Given the description of an element on the screen output the (x, y) to click on. 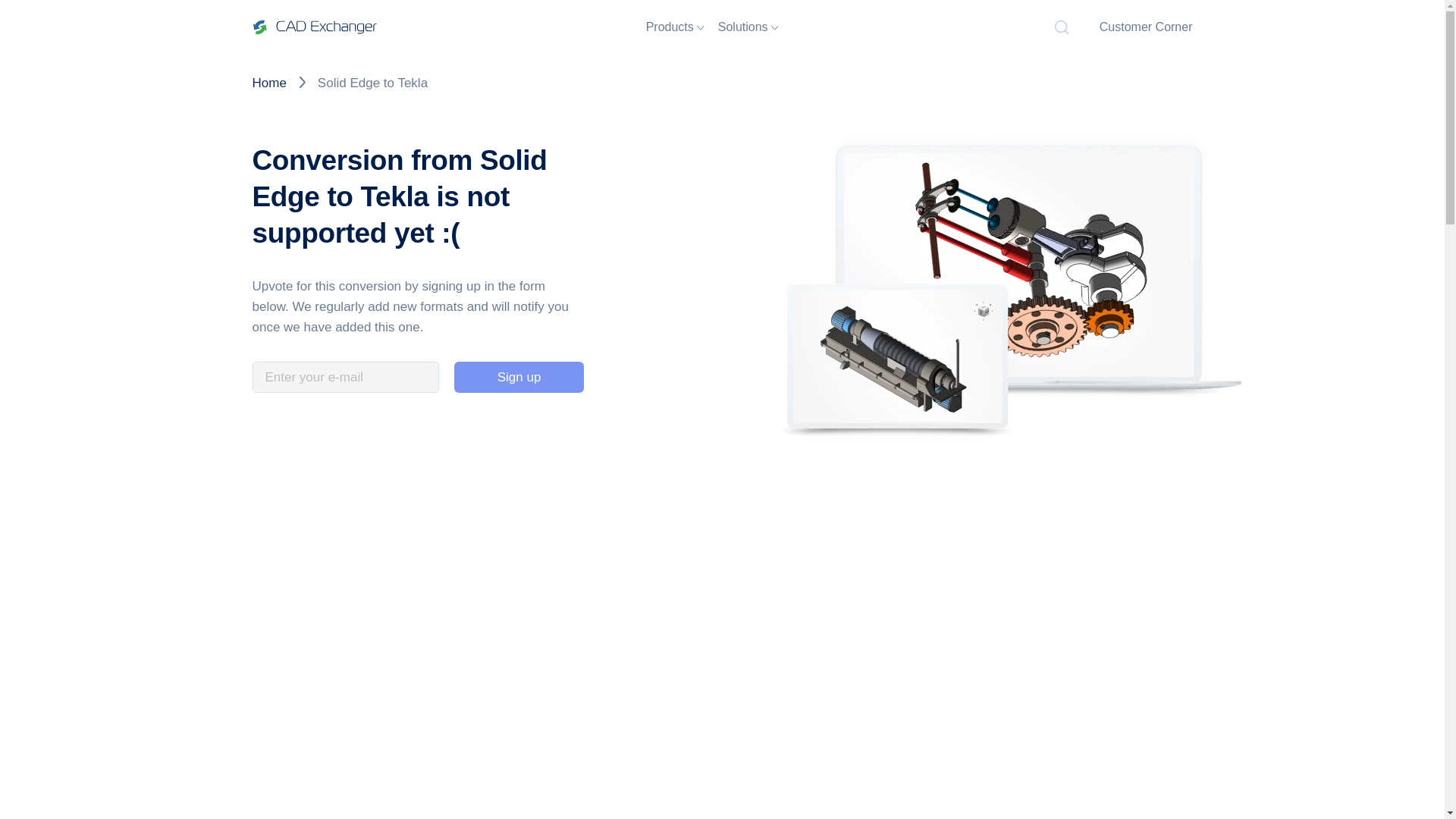
Products (674, 27)
Solid Edge to Tekla (372, 83)
Solutions (747, 27)
Sign up (518, 376)
Customer Corner (1145, 27)
Home (268, 83)
